Given the description of an element on the screen output the (x, y) to click on. 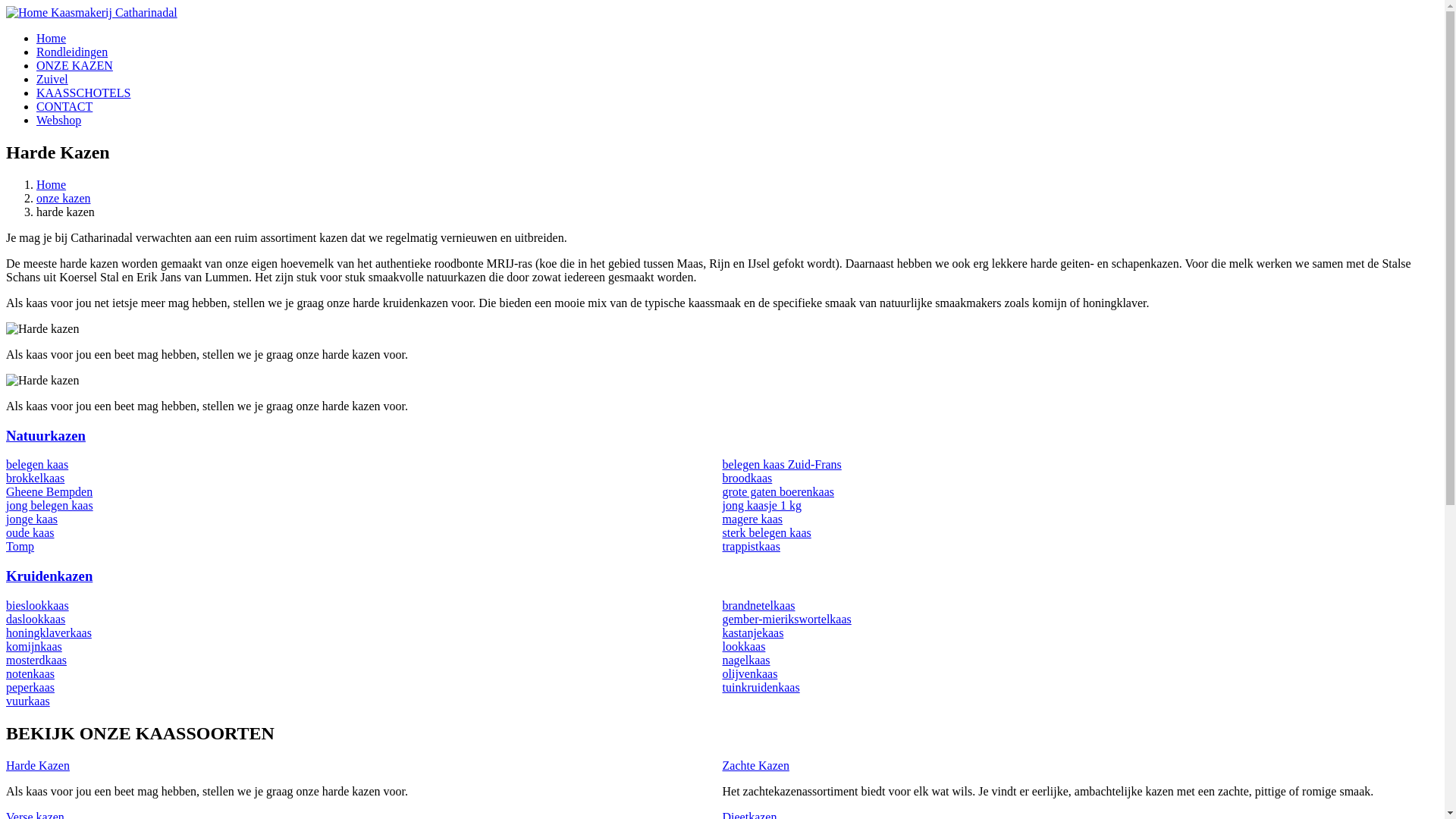
tuinkruidenkaas Element type: text (760, 686)
Gheene Bempden Element type: text (49, 491)
Rondleidingen Element type: text (71, 51)
olijvenkaas Element type: text (749, 673)
brandnetelkaas Element type: text (757, 605)
Kaasmakerij Catharinadal Element type: text (113, 12)
broodkaas Element type: text (746, 477)
gember-mierikswortelkaas Element type: text (785, 618)
jong kaasje 1 kg Element type: text (760, 504)
Home Element type: text (50, 37)
jong belegen kaas Element type: text (49, 504)
nagelkaas Element type: text (745, 659)
peperkaas Element type: text (30, 686)
kastanjekaas Element type: text (752, 632)
Home Element type: text (50, 184)
Harde Kazen Element type: text (37, 764)
komijnkaas Element type: text (34, 646)
Tomp Element type: text (20, 545)
brokkelkaas Element type: text (35, 477)
Natuurkazen Element type: text (45, 435)
belegen kaas Element type: text (37, 464)
KAASSCHOTELS Element type: text (83, 92)
ONZE KAZEN Element type: text (74, 65)
Zachte Kazen Element type: text (754, 764)
oude kaas Element type: text (30, 532)
onze kazen Element type: text (63, 197)
Kruidenkazen Element type: text (49, 575)
Zuivel Element type: text (52, 78)
trappistkaas Element type: text (750, 545)
sterk belegen kaas Element type: text (765, 532)
mosterdkaas Element type: text (36, 659)
magere kaas Element type: text (751, 518)
belegen kaas Zuid-Frans Element type: text (780, 464)
vuurkaas Element type: text (28, 700)
grote gaten boerenkaas Element type: text (777, 491)
CONTACT Element type: text (64, 106)
Skip to main content Element type: text (6, 6)
lookkaas Element type: text (743, 646)
jonge kaas Element type: text (31, 518)
notenkaas Element type: text (30, 673)
daslookkaas Element type: text (35, 618)
Webshop Element type: text (58, 119)
honingklaverkaas Element type: text (48, 632)
bieslookkaas Element type: text (37, 605)
